Given the description of an element on the screen output the (x, y) to click on. 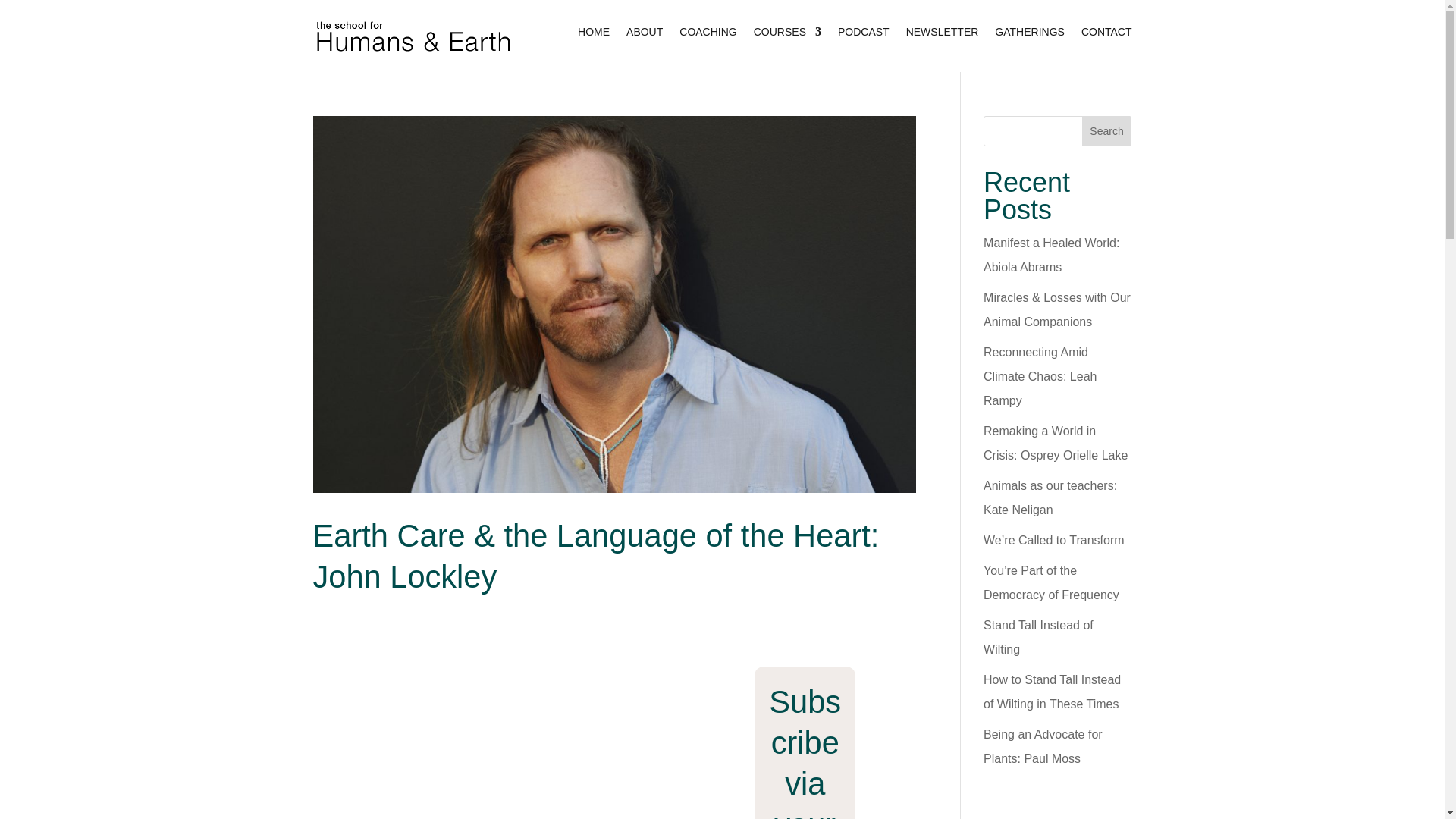
Search (1106, 131)
COACHING (707, 34)
Manifest a Healed World: Abiola Abrams (1051, 254)
CONTACT (1106, 34)
NEWSLETTER (941, 34)
Remaking a World in Crisis: Osprey Orielle Lake (1055, 443)
ABOUT (644, 34)
HOME (594, 34)
COURSES (787, 34)
Stand Tall Instead of Wilting (1038, 637)
GATHERINGS (1029, 34)
Search (1106, 131)
Reconnecting Amid Climate Chaos: Leah Rampy (1040, 376)
PODCAST (863, 34)
Animals as our teachers: Kate Neligan (1050, 497)
